Given the description of an element on the screen output the (x, y) to click on. 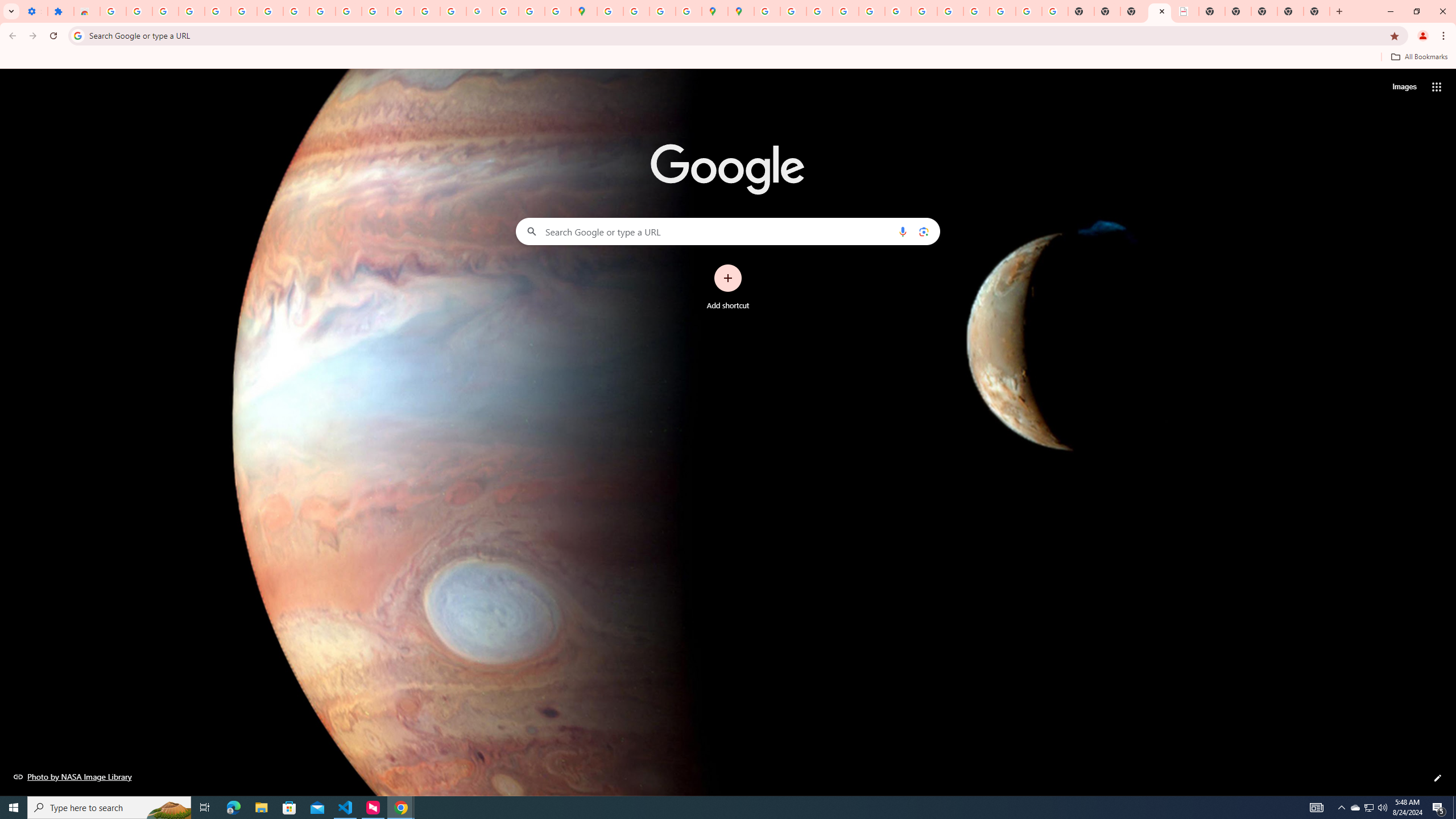
Sign in - Google Accounts (112, 11)
Delete photos & videos - Computer - Google Photos Help (165, 11)
Google Account (296, 11)
New Tab (1290, 11)
Privacy Help Center - Policies Help (818, 11)
